Given the description of an element on the screen output the (x, y) to click on. 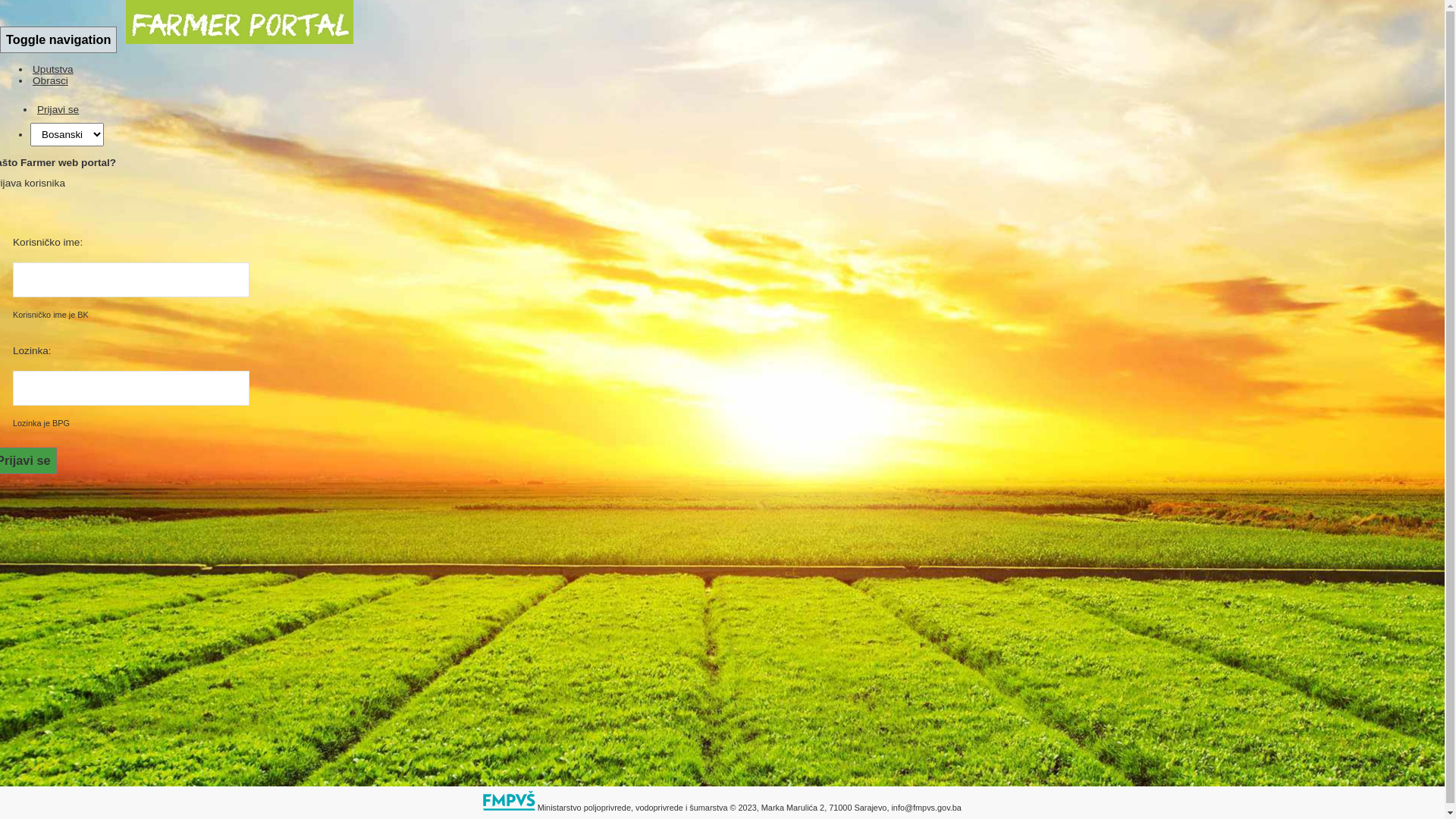
Obrasci Element type: text (50, 80)
Toggle navigation Element type: text (58, 39)
Uputstva Element type: text (52, 69)
Prijavi se Element type: text (57, 109)
